Given the description of an element on the screen output the (x, y) to click on. 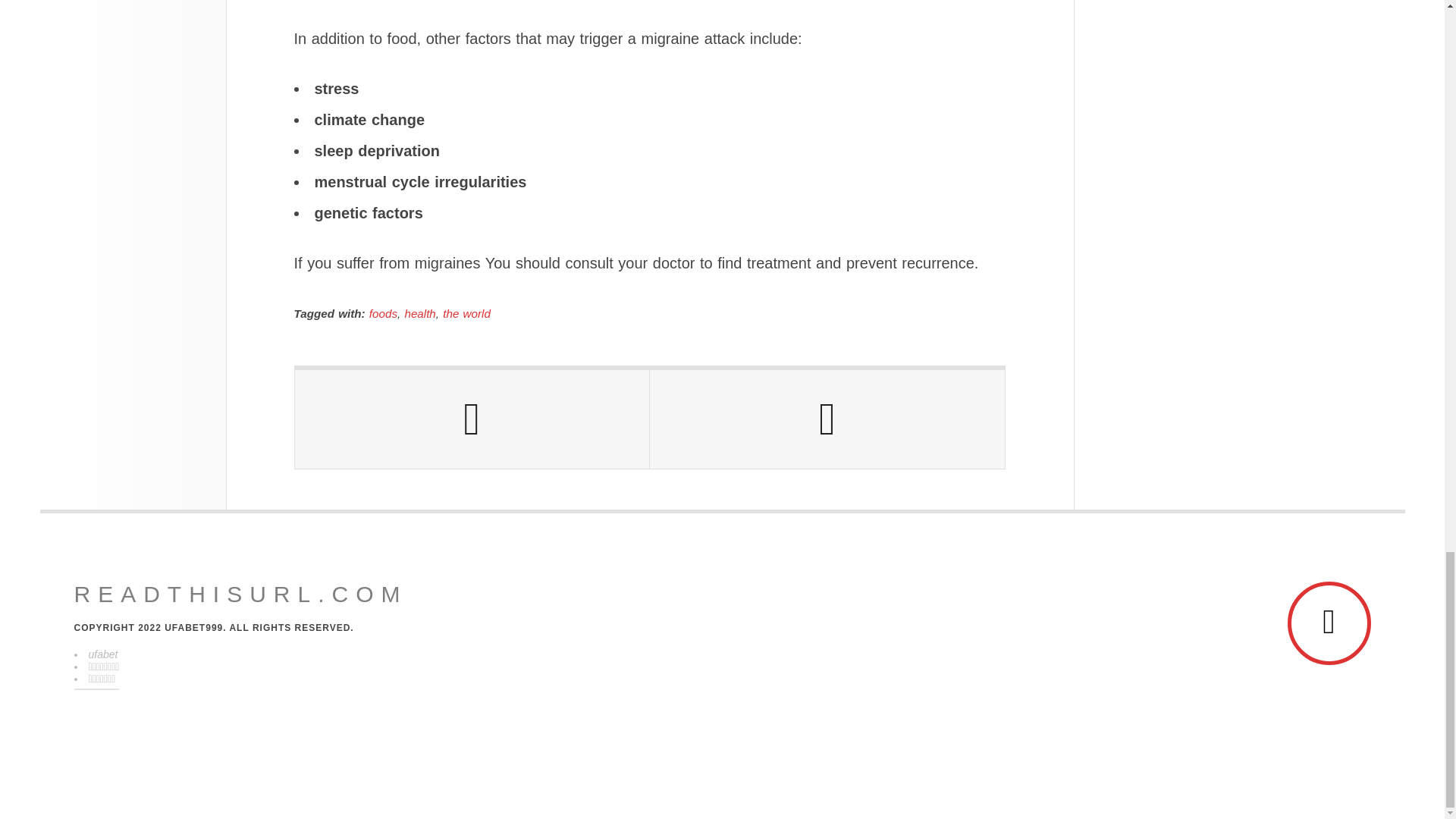
foods (383, 313)
the world (466, 313)
Next Post (826, 419)
Previous Post (471, 419)
health (419, 313)
ufabet (102, 654)
readthisurl.com (240, 594)
READTHISURL.COM (240, 594)
